Given the description of an element on the screen output the (x, y) to click on. 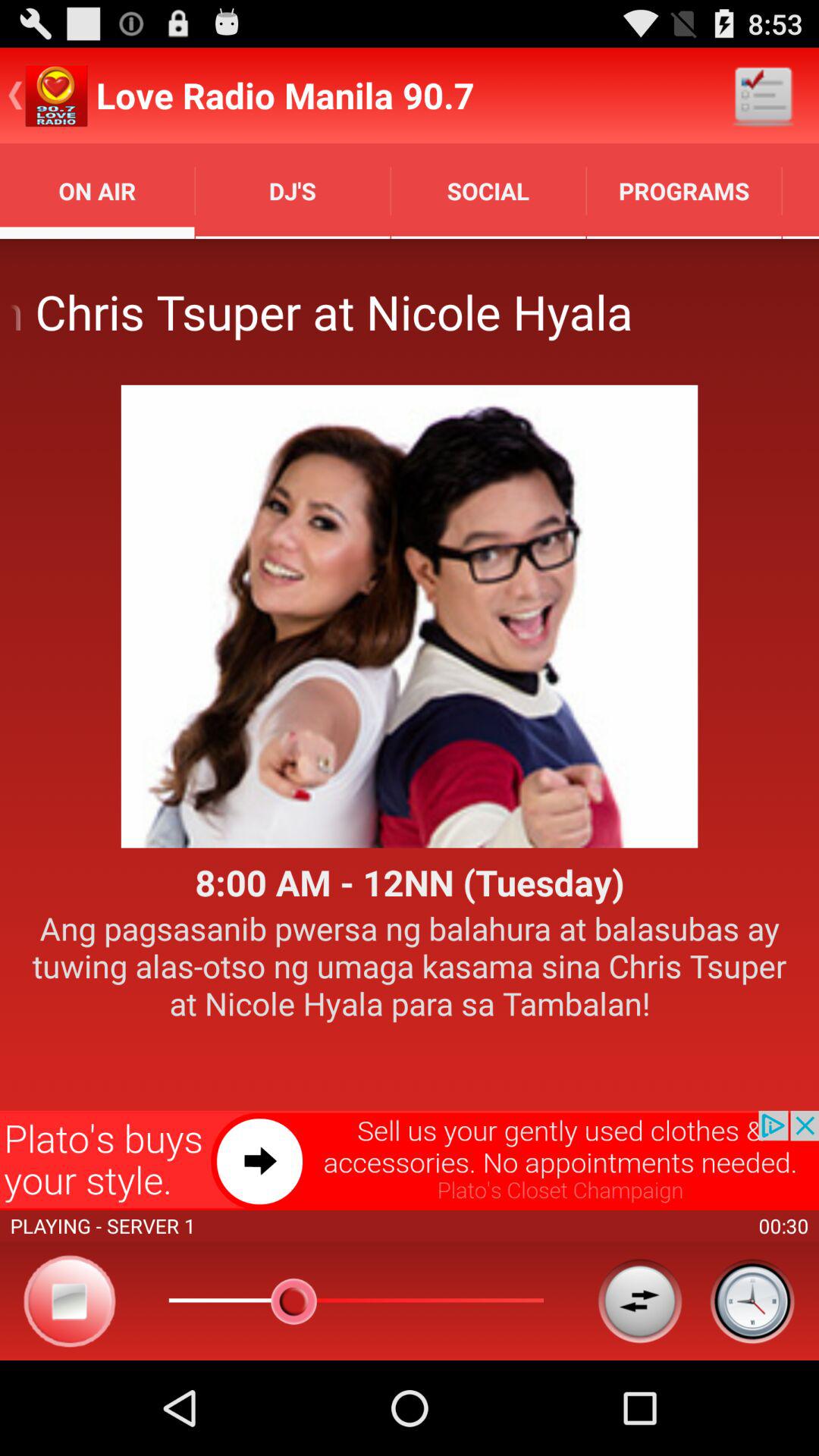
advertisement (409, 1160)
